Given the description of an element on the screen output the (x, y) to click on. 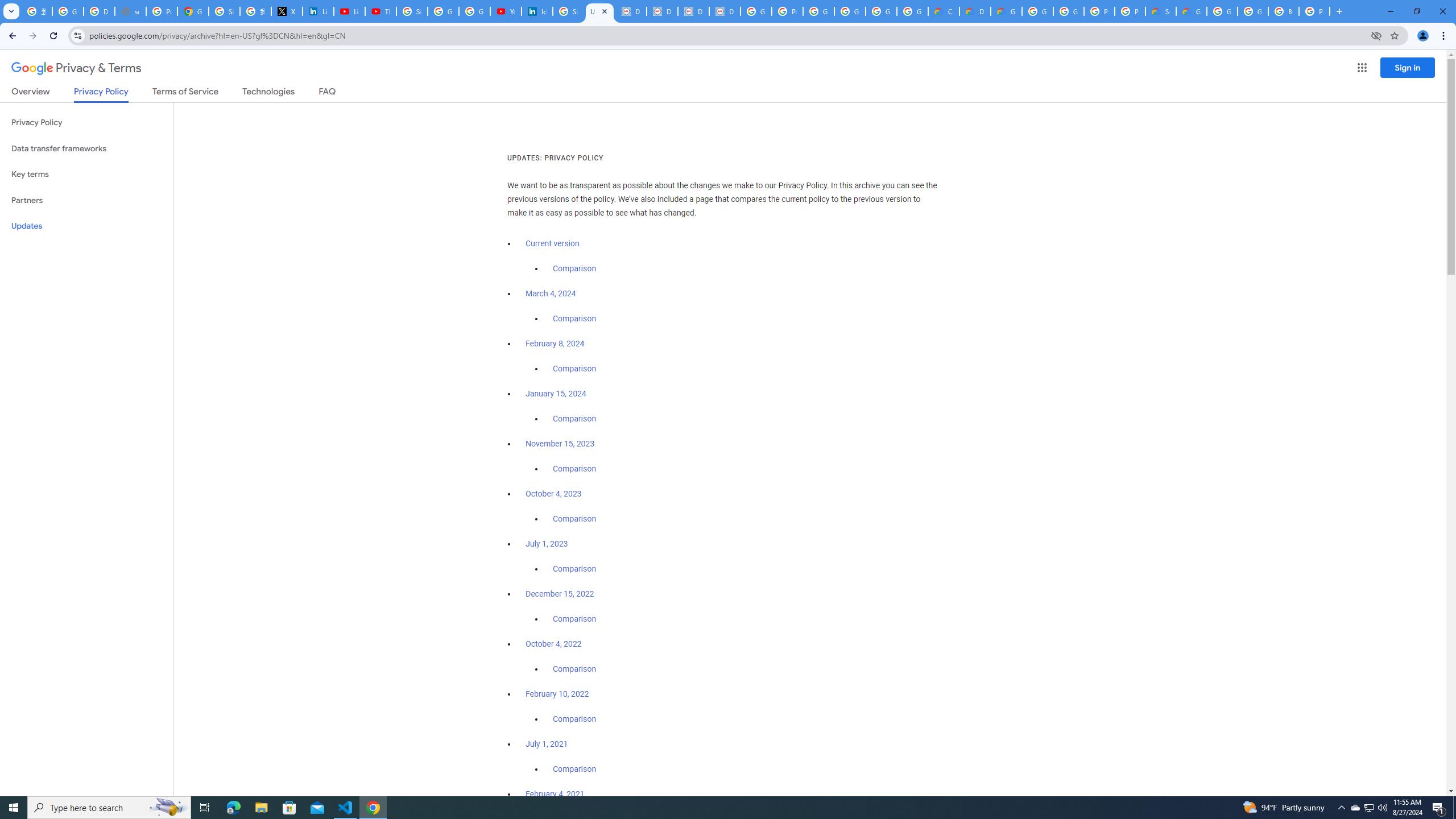
March 4, 2024 (550, 293)
LinkedIn - YouTube (349, 11)
Gemini for Business and Developers | Google Cloud (1005, 11)
Google Cloud Platform (1068, 11)
Privacy Help Center - Policies Help (161, 11)
